Given the description of an element on the screen output the (x, y) to click on. 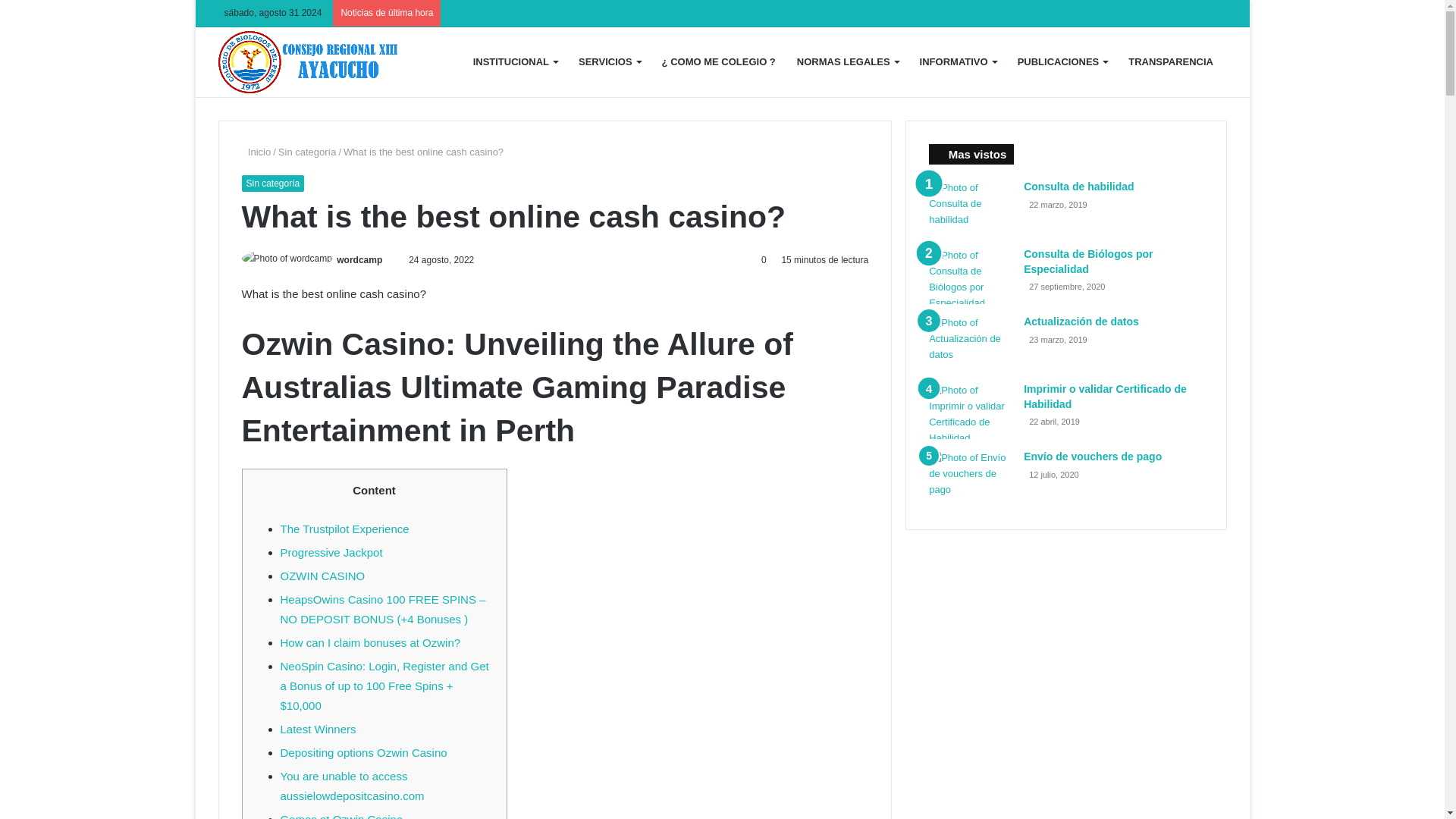
NORMAS LEGALES (847, 62)
wordcamp (358, 259)
INSTITUCIONAL (515, 62)
Colegio de Biologos de Ayacucho (311, 62)
SERVICIOS (608, 62)
